Given the description of an element on the screen output the (x, y) to click on. 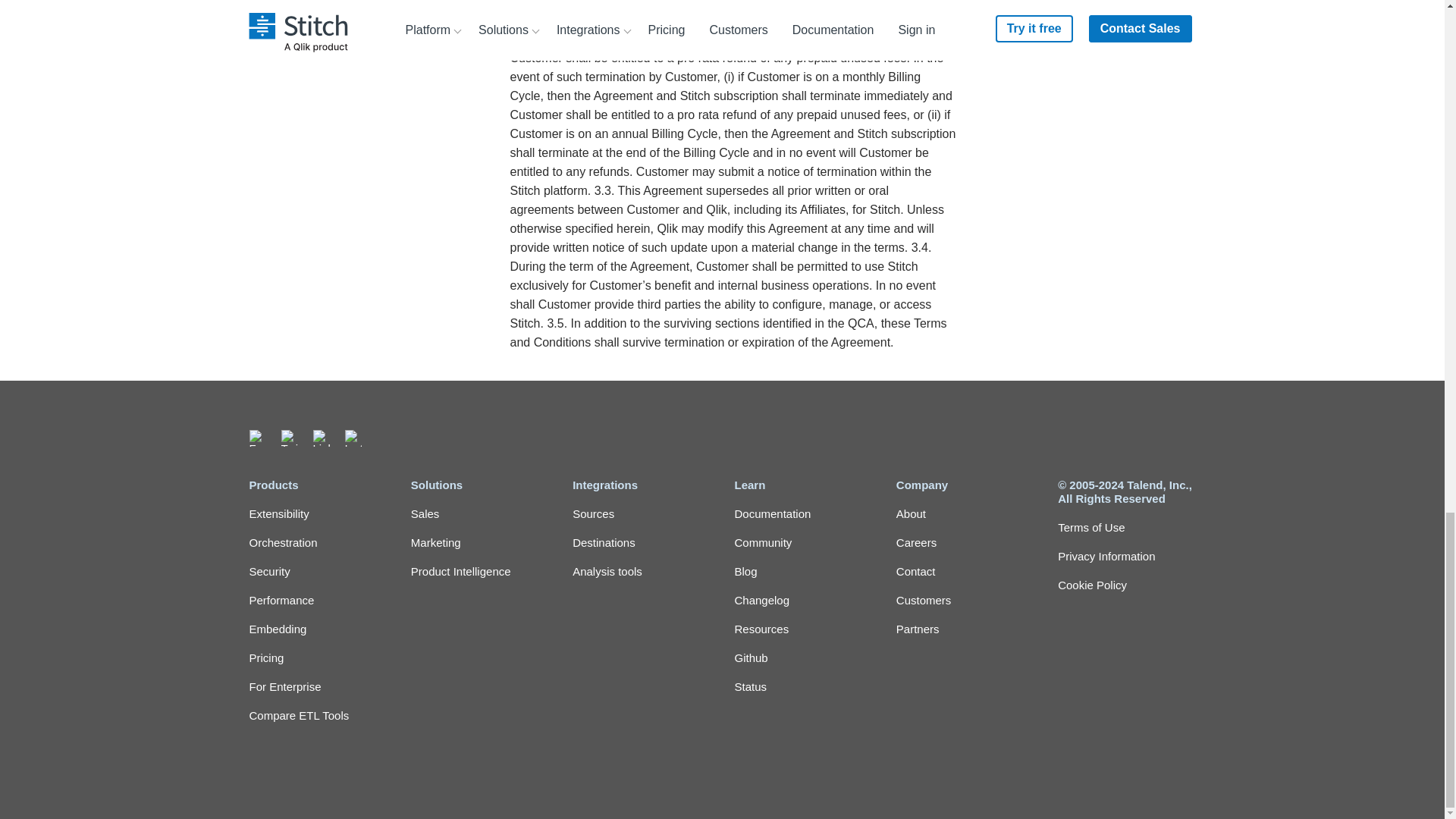
Orchestration (316, 542)
Products (316, 485)
Security (316, 571)
Performance (316, 599)
Embedding (316, 629)
Pricing (316, 658)
Extensibility (316, 513)
For Enterprise (316, 686)
